Given the description of an element on the screen output the (x, y) to click on. 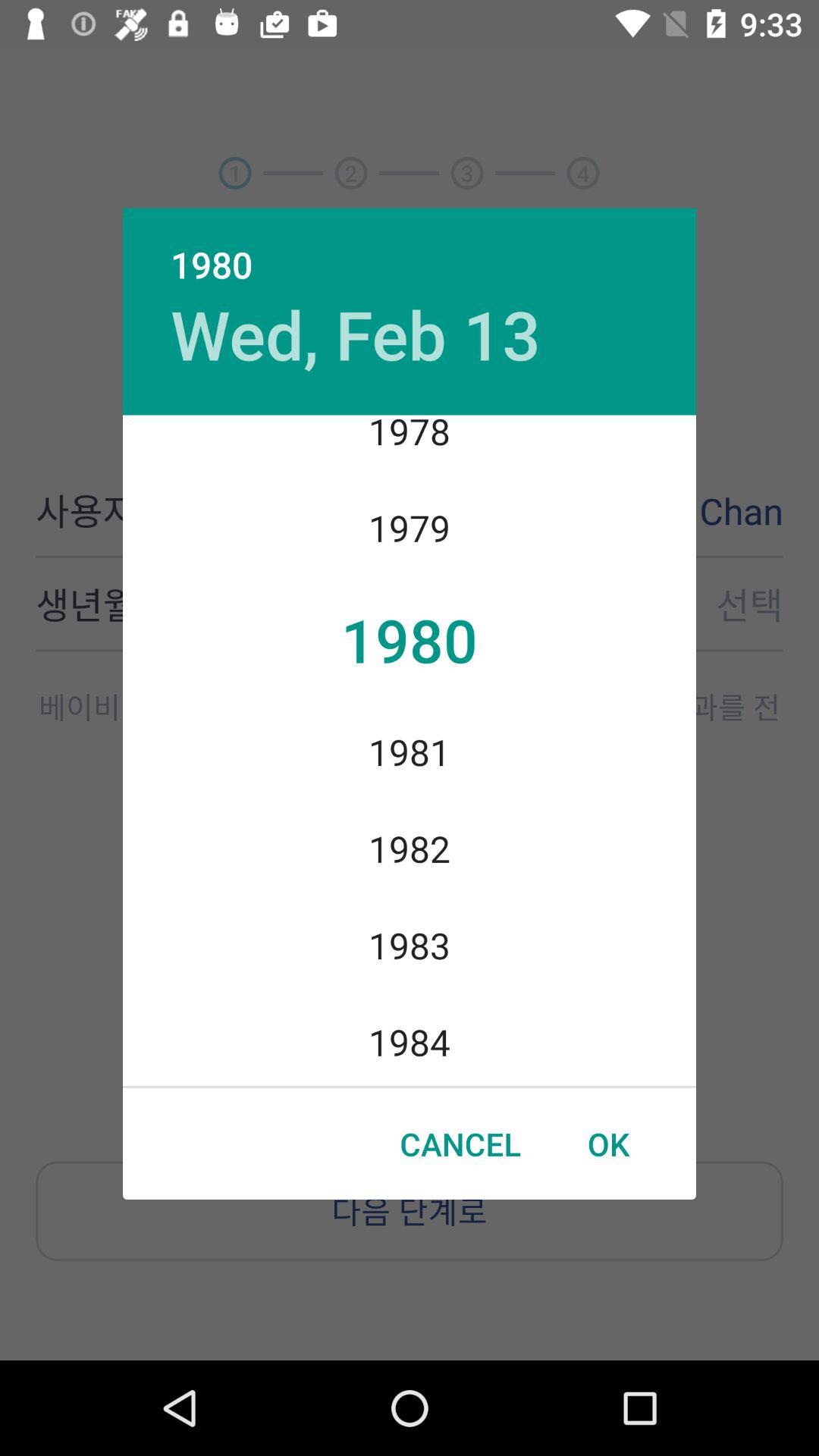
launch the cancel icon (459, 1143)
